Given the description of an element on the screen output the (x, y) to click on. 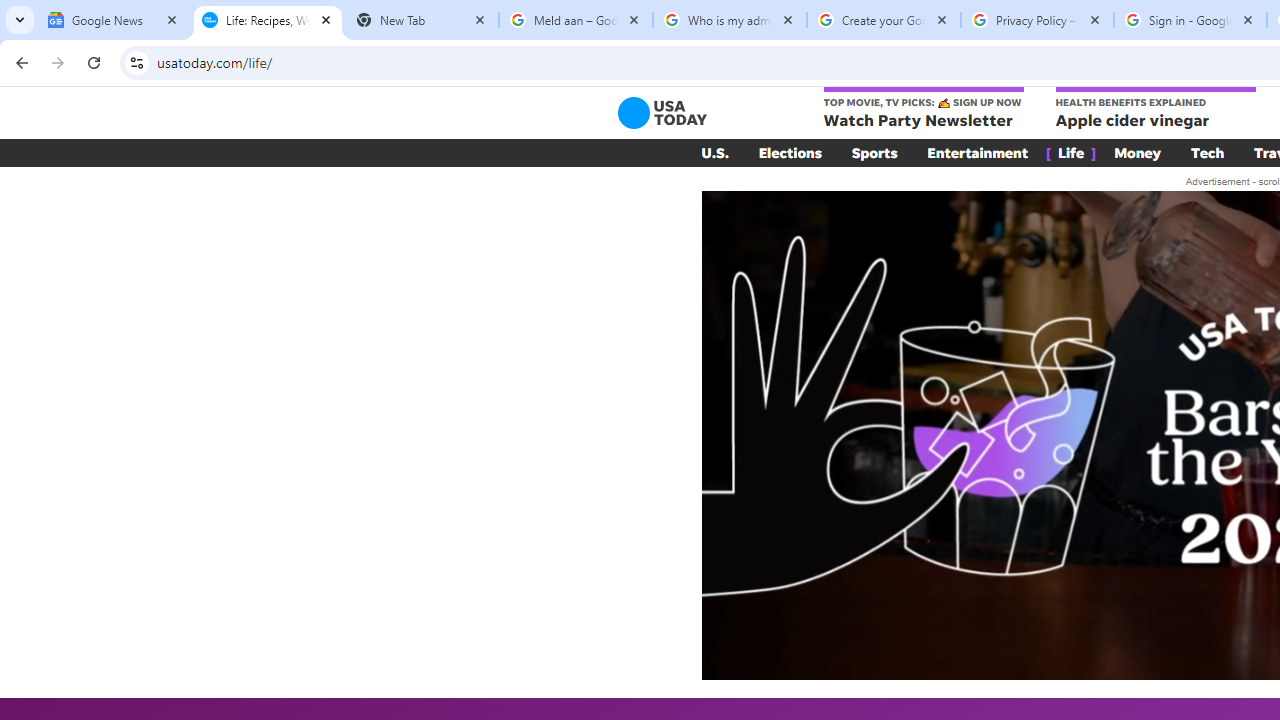
Sign in - Google Accounts (1190, 20)
Create your Google Account (883, 20)
Who is my administrator? - Google Account Help (729, 20)
Tech (1207, 152)
Sports (873, 152)
HEALTH BENEFITS EXPLAINED Apple cider vinegar (1154, 109)
Google News (113, 20)
U.S. (714, 152)
